Given the description of an element on the screen output the (x, y) to click on. 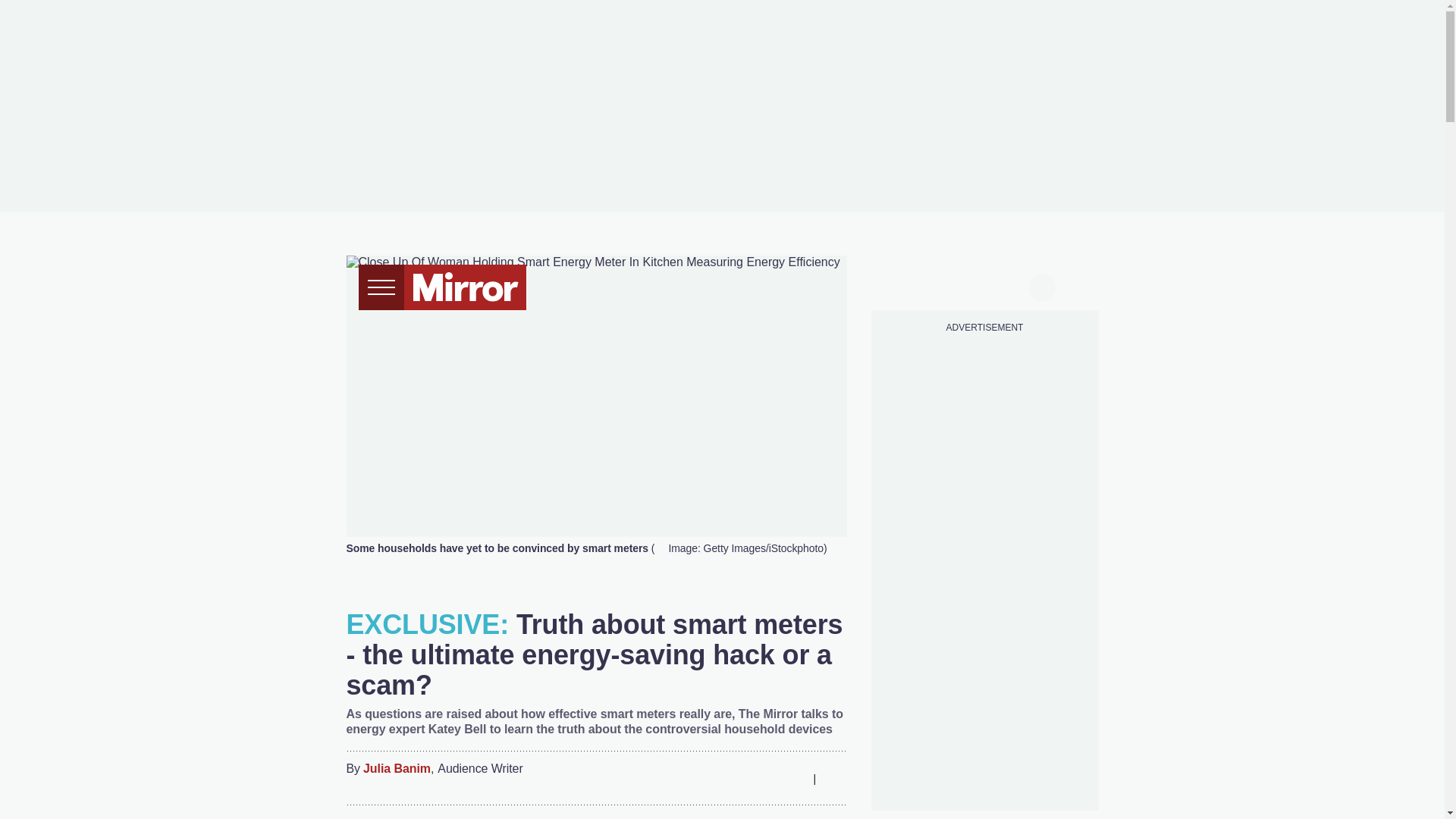
tiktok (955, 285)
Julia Banim (396, 769)
facebook (897, 285)
Facebook (702, 778)
instagram (984, 285)
Twitter (733, 778)
twitter (926, 285)
Whatsapp (763, 778)
snapchat (1012, 285)
Comments (834, 778)
